Given the description of an element on the screen output the (x, y) to click on. 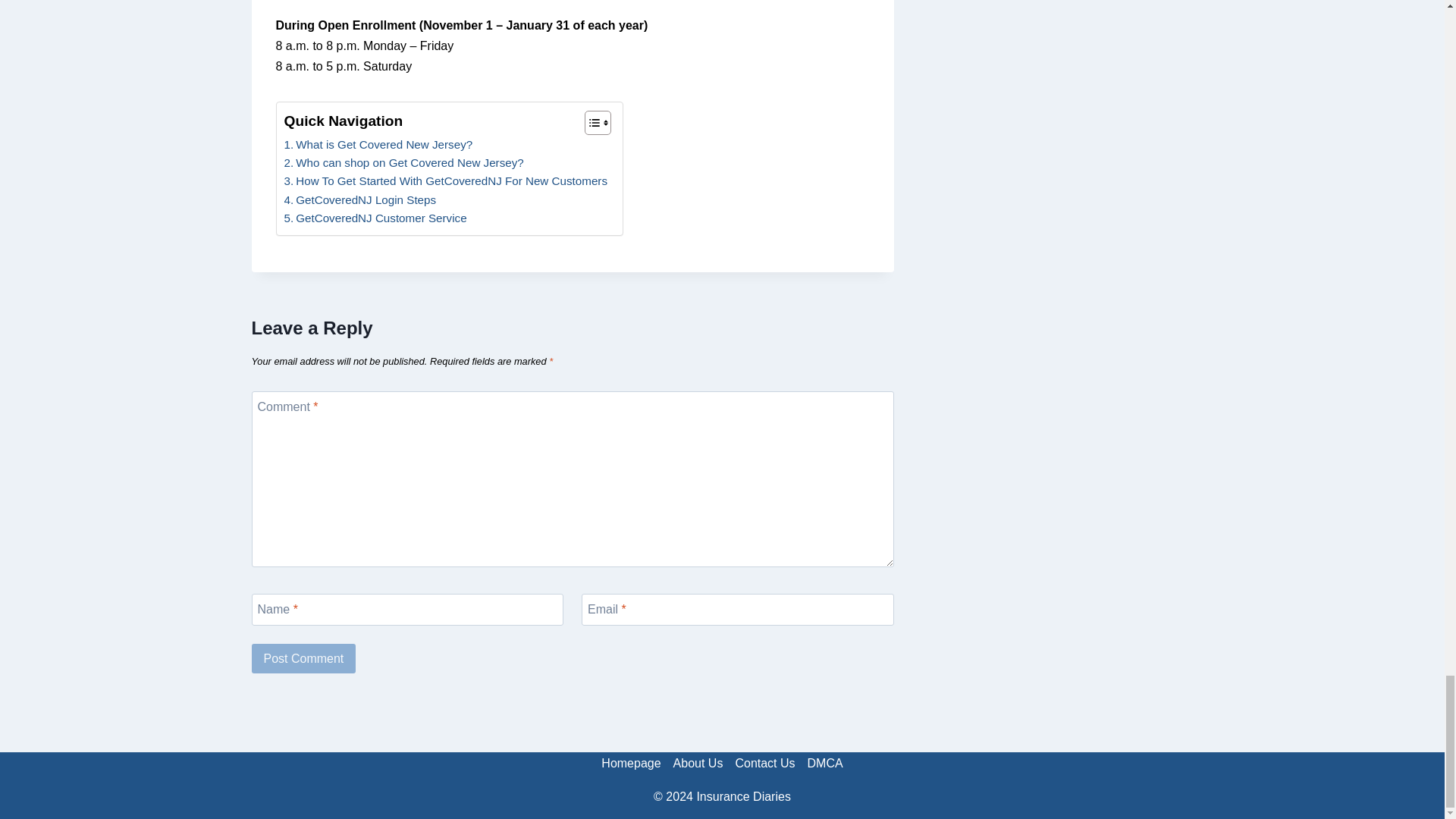
What is Get Covered New Jersey? (377, 144)
Who can shop on Get Covered New Jersey? (402, 162)
Post Comment (303, 657)
GetCoveredNJ Login Steps (359, 199)
How To Get Started With GetCoveredNJ For New Customers (445, 180)
GetCoveredNJ Customer Service (374, 218)
